Given the description of an element on the screen output the (x, y) to click on. 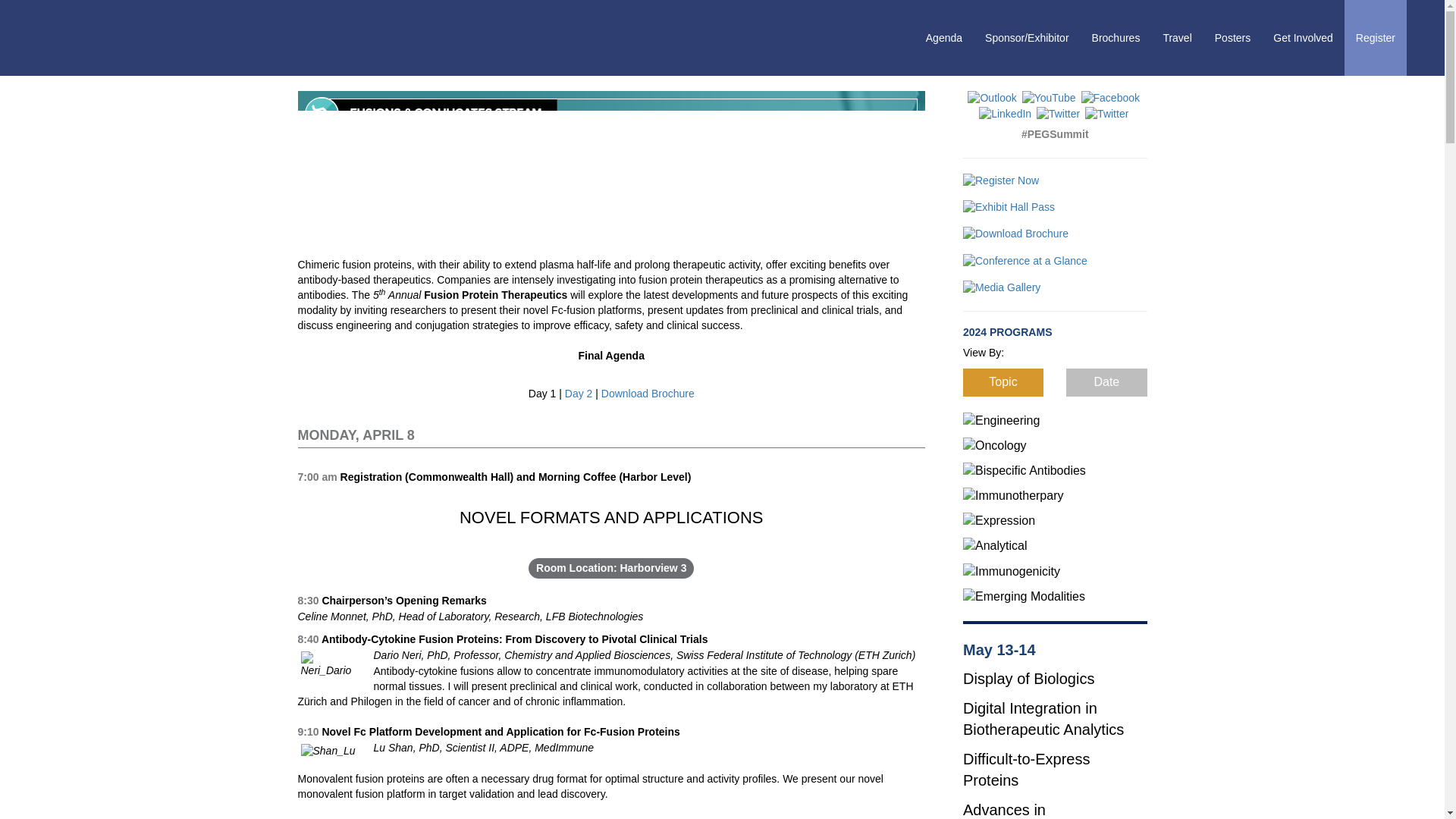
Get Involved (1302, 38)
Download Brochure (647, 393)
Brochures (1115, 38)
